Given the description of an element on the screen output the (x, y) to click on. 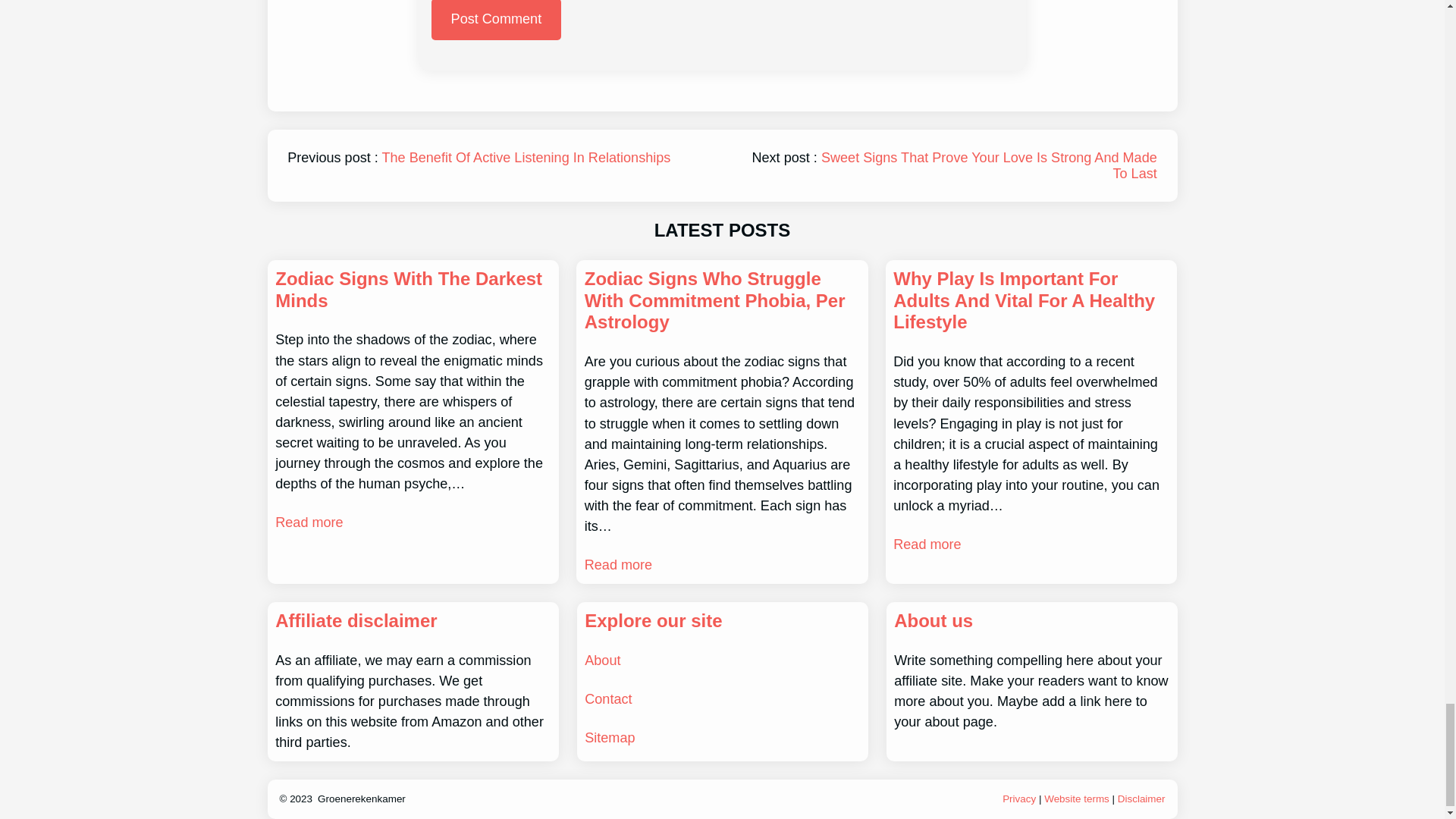
Read more (308, 522)
Sweet Signs That Prove Your Love Is Strong And Made To Last (989, 164)
Read more (618, 565)
Zodiac Signs With The Darkest Minds (412, 290)
Read more (926, 544)
Post Comment (495, 20)
The Benefit Of Active Listening In Relationships (526, 157)
Website terms (1076, 798)
Privacy (1019, 798)
Sitemap (609, 737)
About (602, 660)
Groenerekenkamer (361, 798)
Post Comment (495, 20)
